Given the description of an element on the screen output the (x, y) to click on. 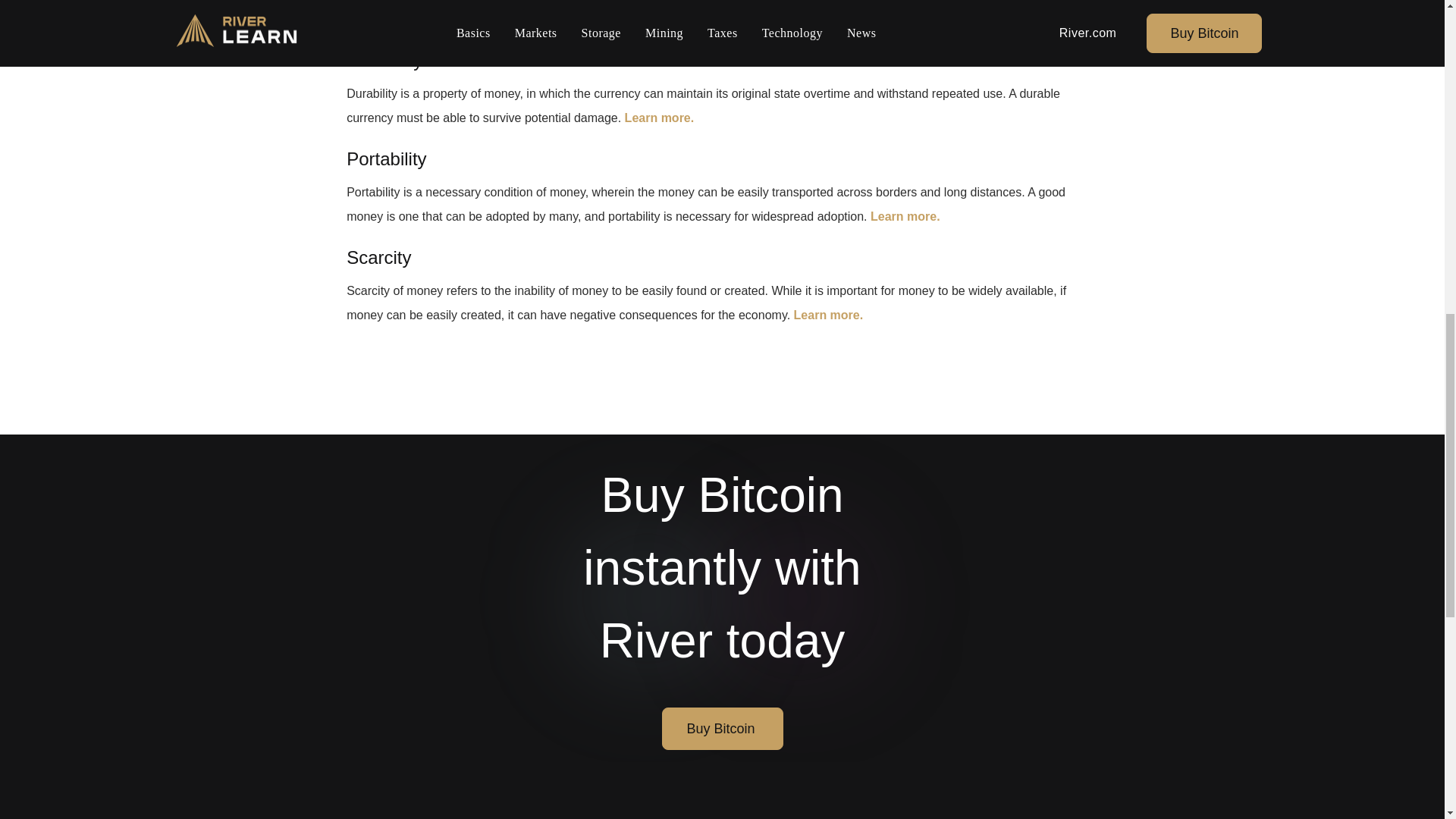
Scarcity (378, 257)
Learn more. (599, 19)
Learn more. (905, 215)
Buy Bitcoin (722, 728)
Learn more. (828, 314)
Learn more. (659, 117)
Durability (384, 59)
Portability (386, 158)
